Given the description of an element on the screen output the (x, y) to click on. 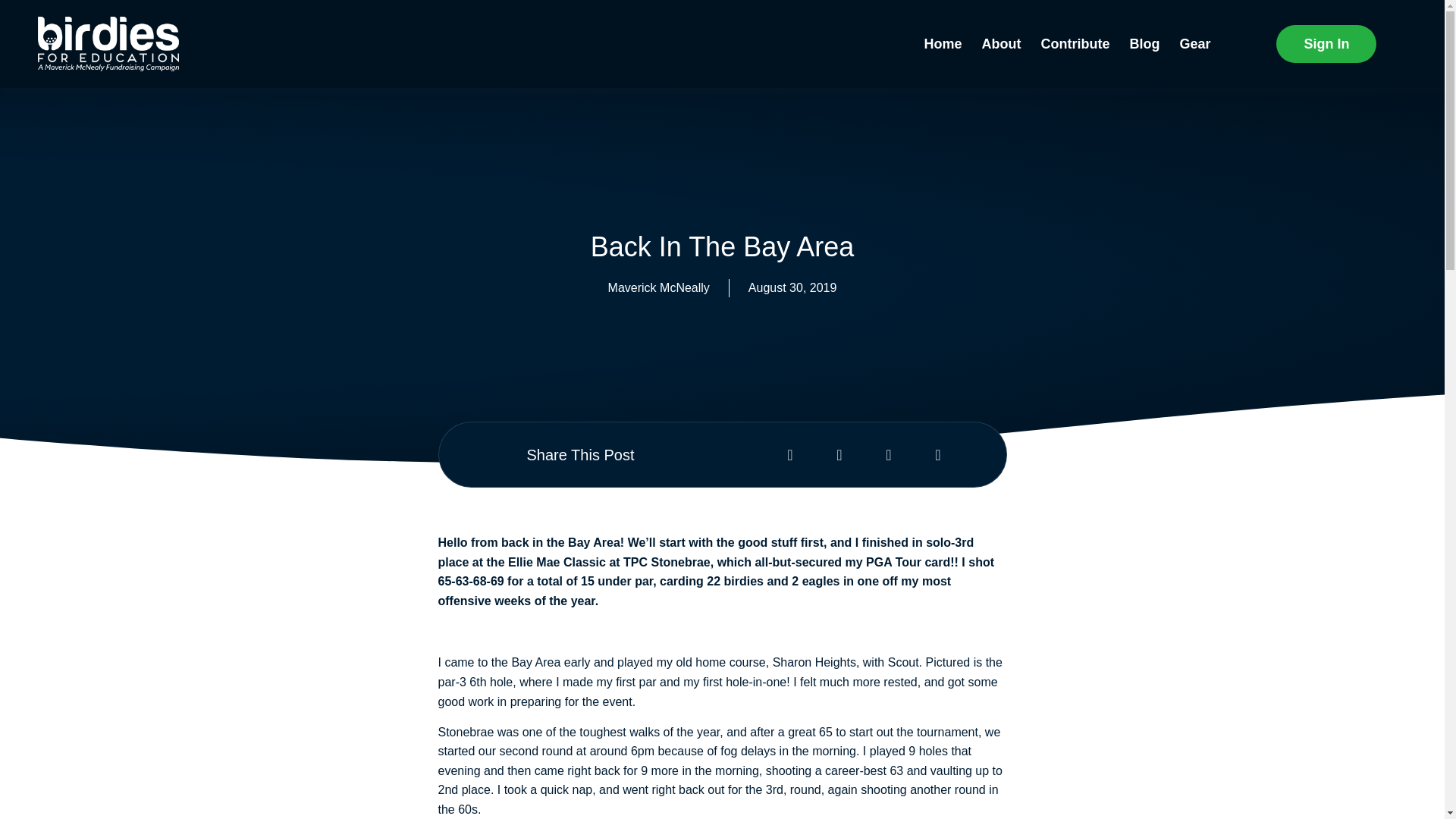
Sign In (1383, 44)
August 30, 2019 (792, 288)
Blog (1144, 15)
Gear (1194, 18)
Home (942, 12)
Maverick McNeally (659, 288)
Contribute (1074, 14)
About (1001, 13)
